Given the description of an element on the screen output the (x, y) to click on. 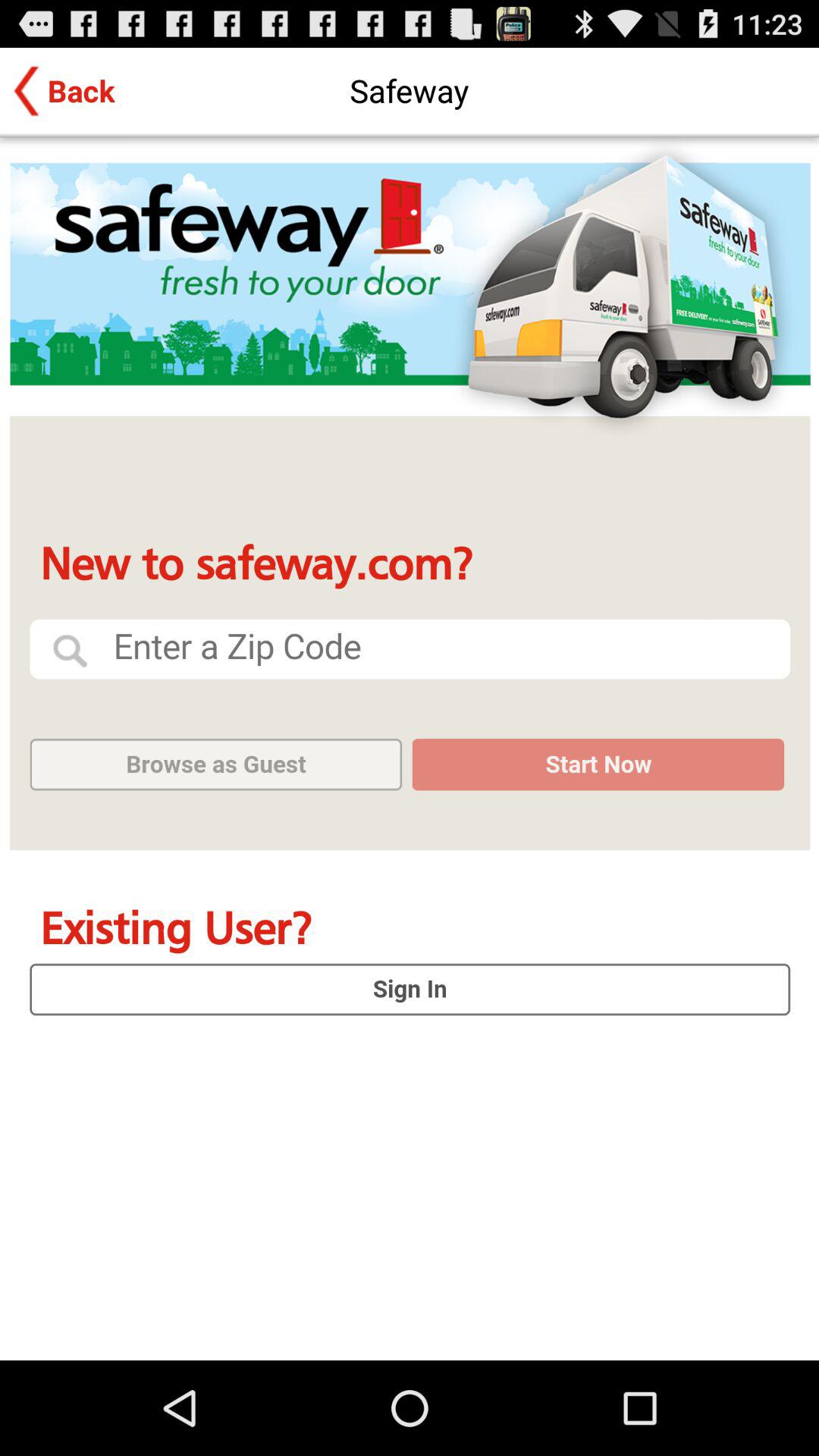
screenshot the picture (409, 748)
